Given the description of an element on the screen output the (x, y) to click on. 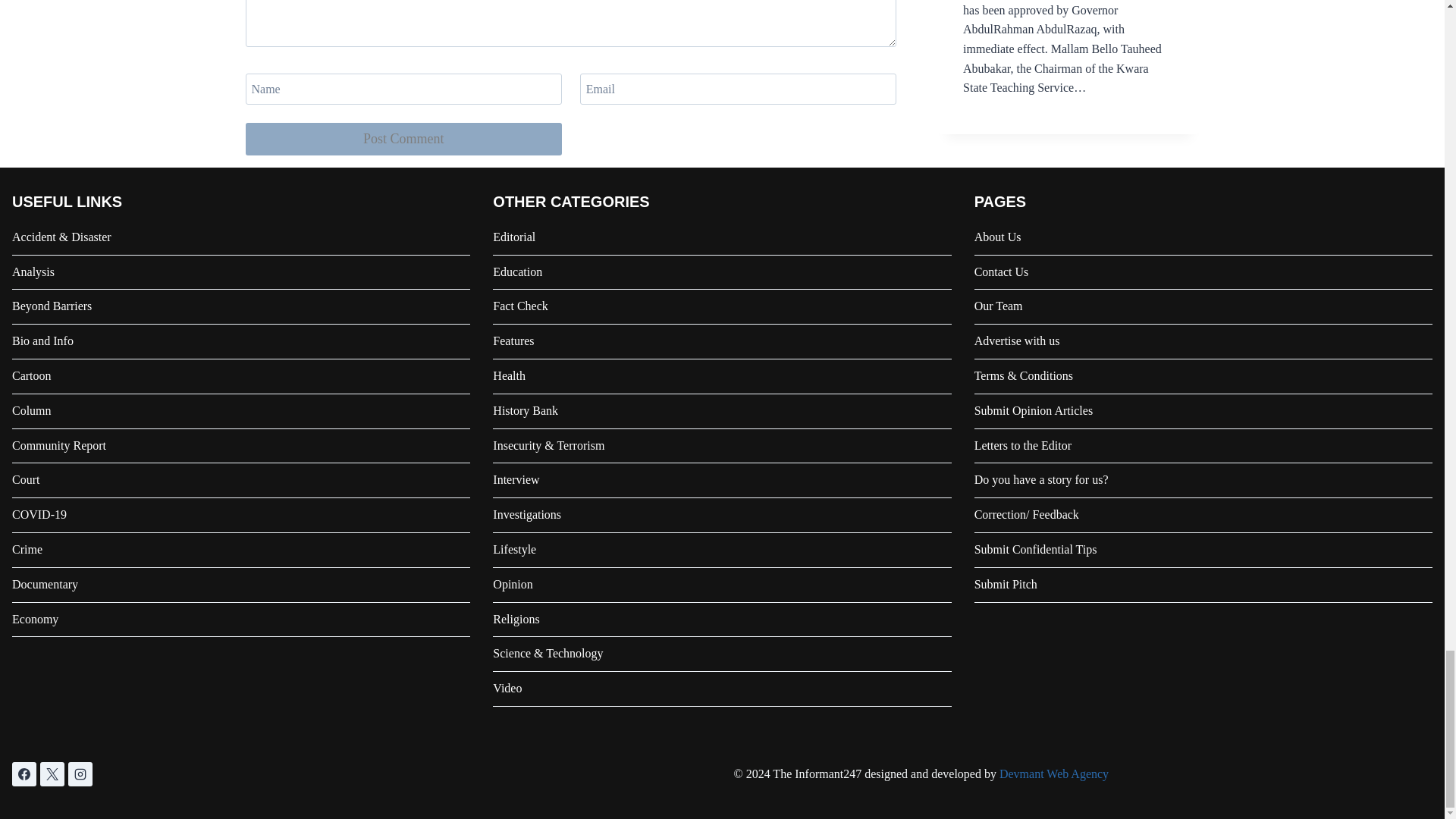
Post Comment (404, 138)
